Given the description of an element on the screen output the (x, y) to click on. 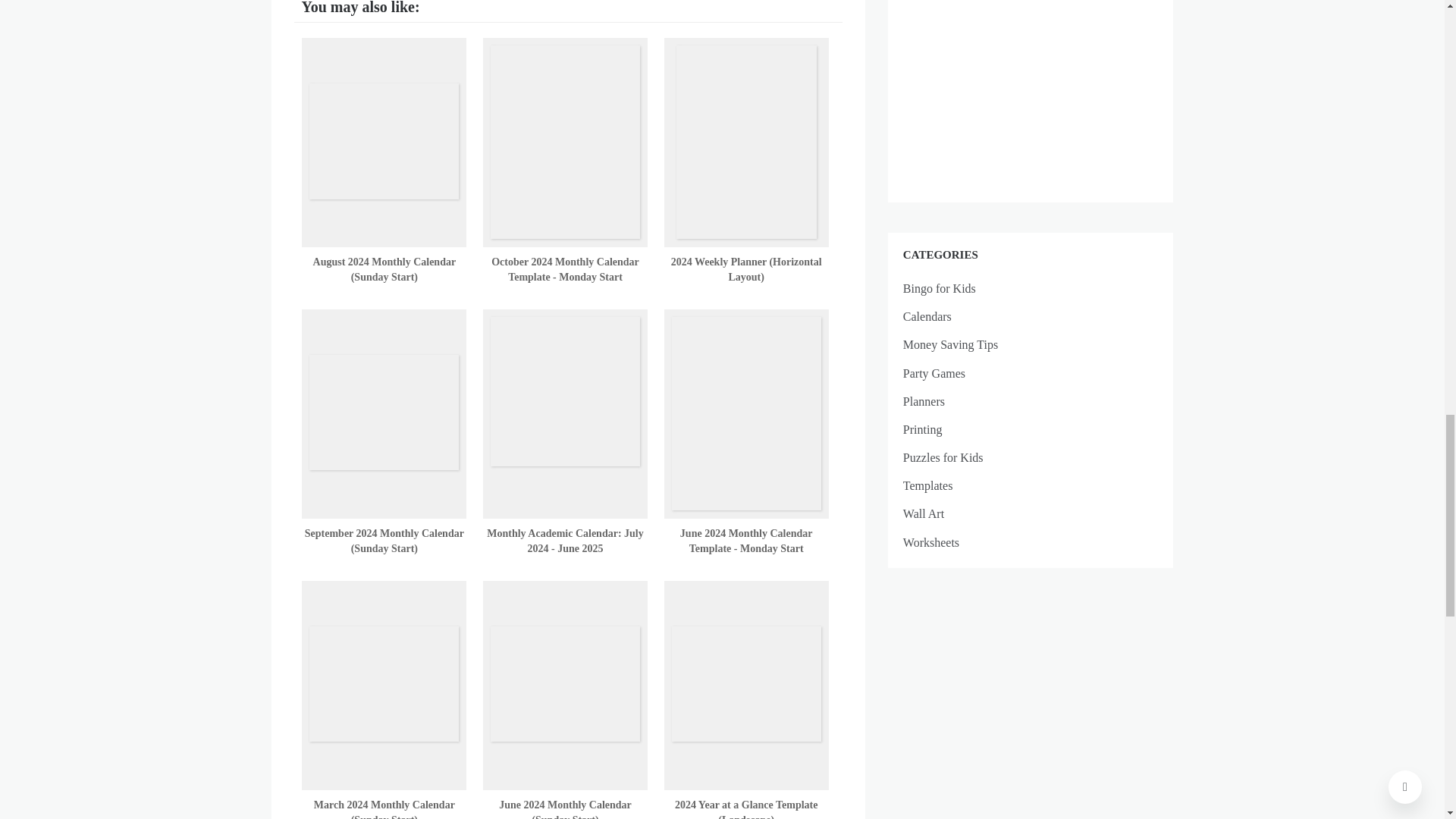
October 2024 Monthly Calendar Template - Monday Start (565, 269)
Monthly Academic Calendar: July 2024 - June 2025 (564, 540)
June 2024 Monthly Calendar Template - Monday Start (745, 540)
